Given the description of an element on the screen output the (x, y) to click on. 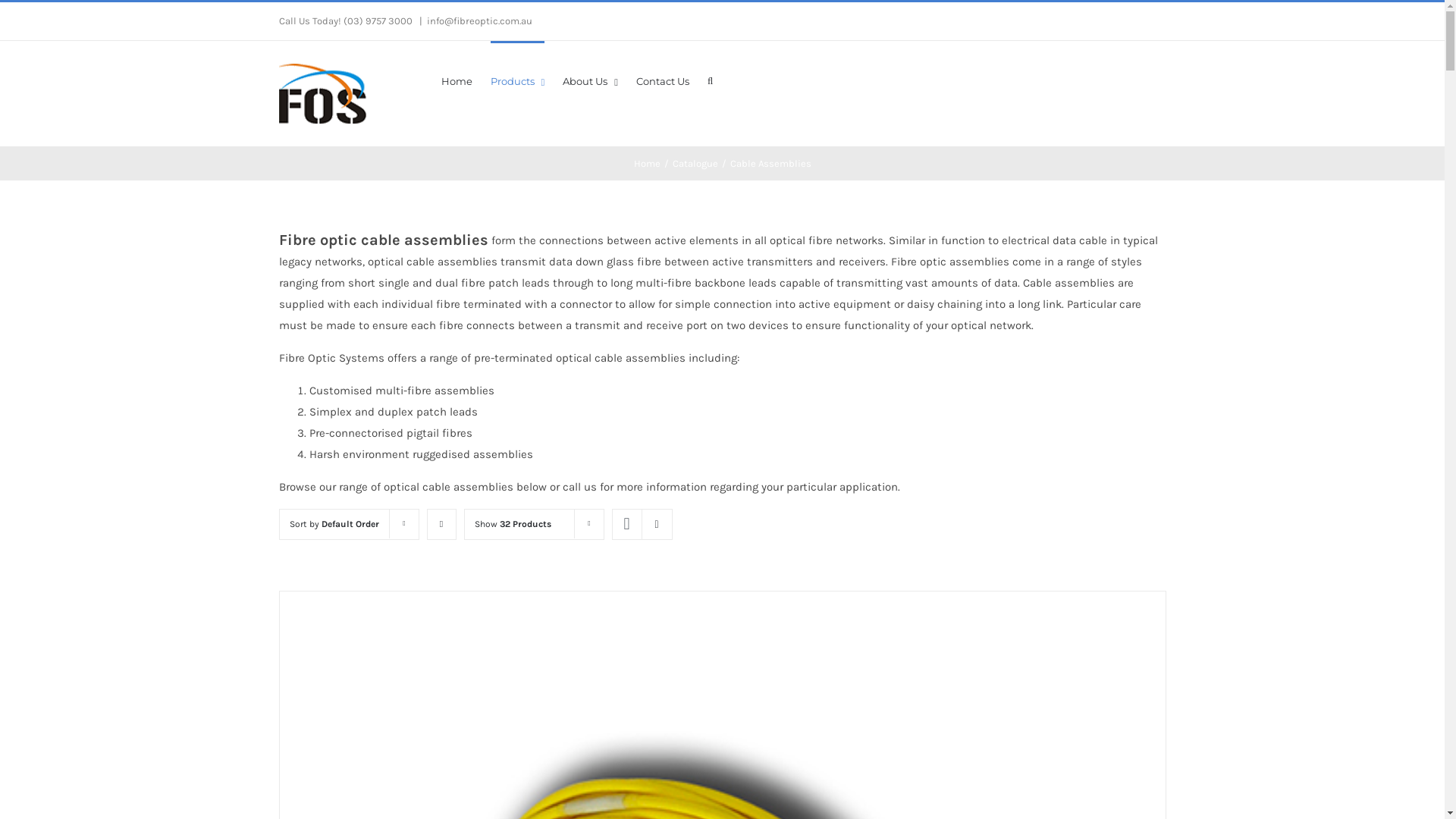
Show 32 Products Element type: text (512, 523)
Catalogue Element type: text (694, 163)
About Us Element type: text (590, 79)
(03) 9757 3000 Element type: text (378, 20)
Sort by Default Order Element type: text (334, 523)
Home Element type: text (646, 163)
Home Element type: text (456, 79)
Contact Us Element type: text (662, 79)
info@fibreoptic.com.au Element type: text (478, 20)
Products Element type: text (516, 79)
